Given the description of an element on the screen output the (x, y) to click on. 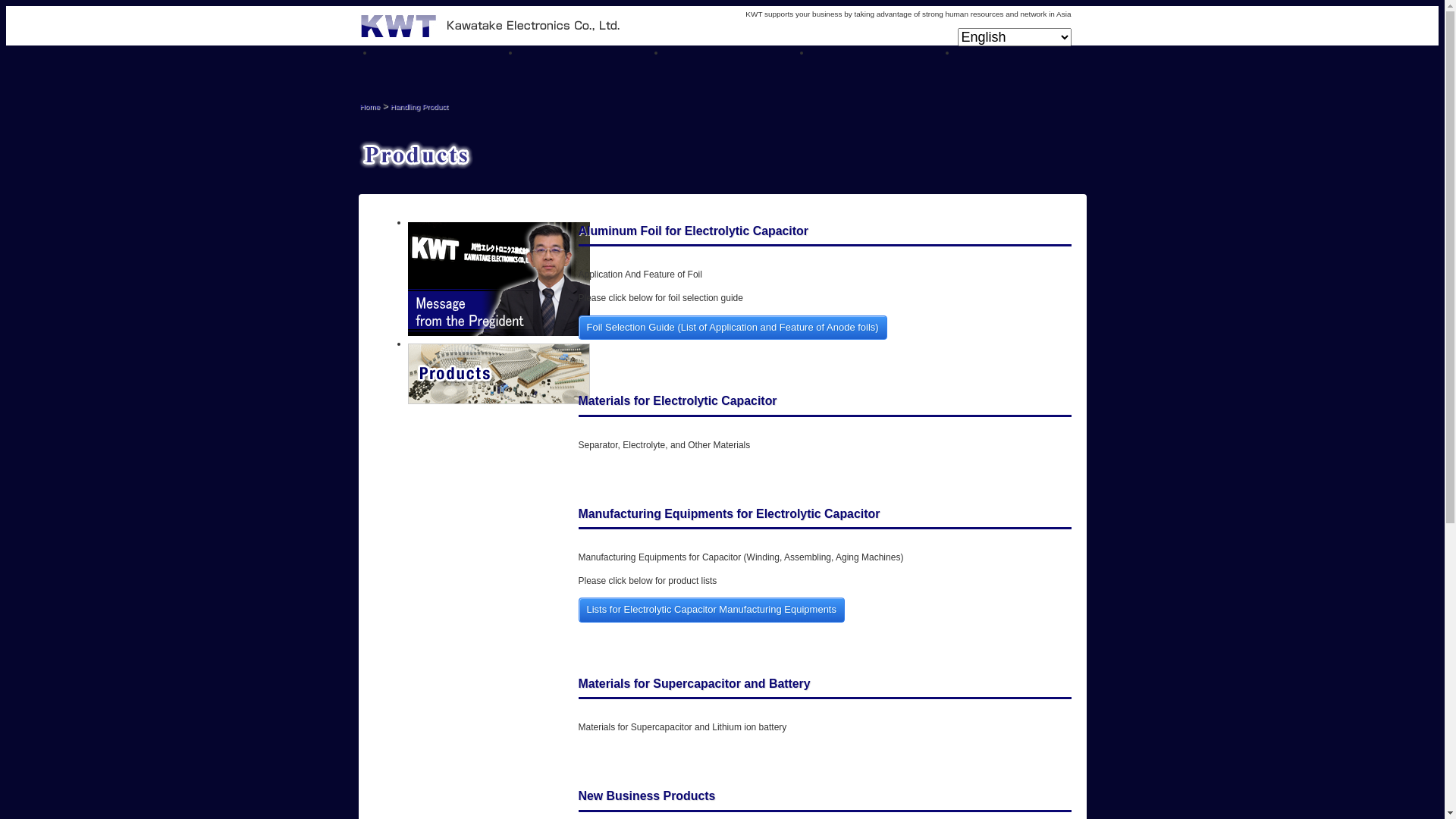
Corporate Profile Element type: text (882, 64)
Handling Product Element type: text (736, 64)
Our Business Element type: text (591, 64)
Home Element type: text (445, 64)
Contact Us Element type: text (1028, 64)
Handling Product Element type: text (419, 106)
Home Element type: text (369, 106)
Lists for Electrolytic Capacitor Manufacturing Equipments Element type: text (710, 609)
